Given the description of an element on the screen output the (x, y) to click on. 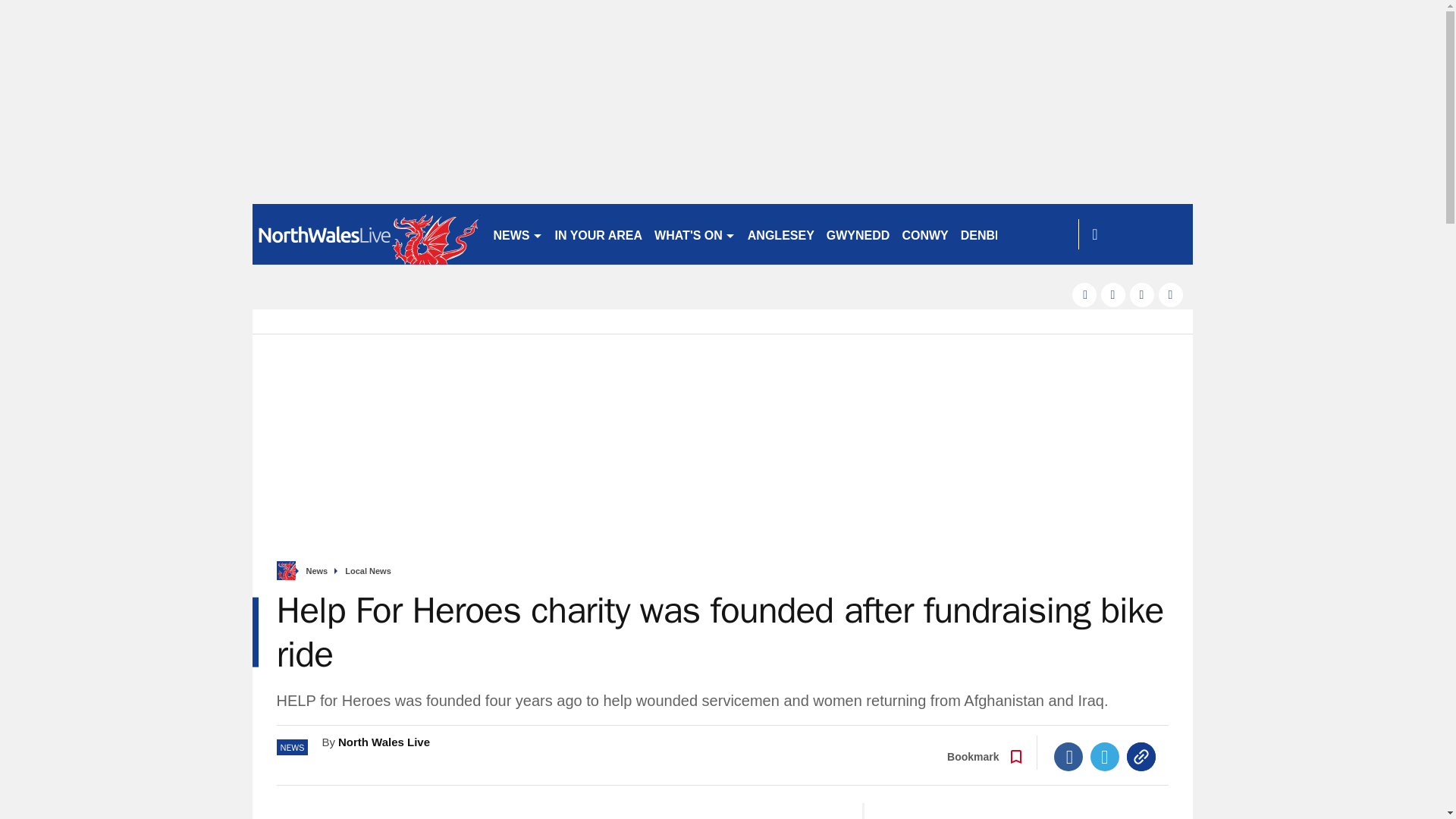
Twitter (1104, 756)
ANGLESEY (781, 233)
Facebook (1068, 756)
northwales (365, 233)
GWYNEDD (858, 233)
IN YOUR AREA (598, 233)
NEWS (517, 233)
pinterest (1141, 294)
instagram (1170, 294)
twitter (1112, 294)
